Given the description of an element on the screen output the (x, y) to click on. 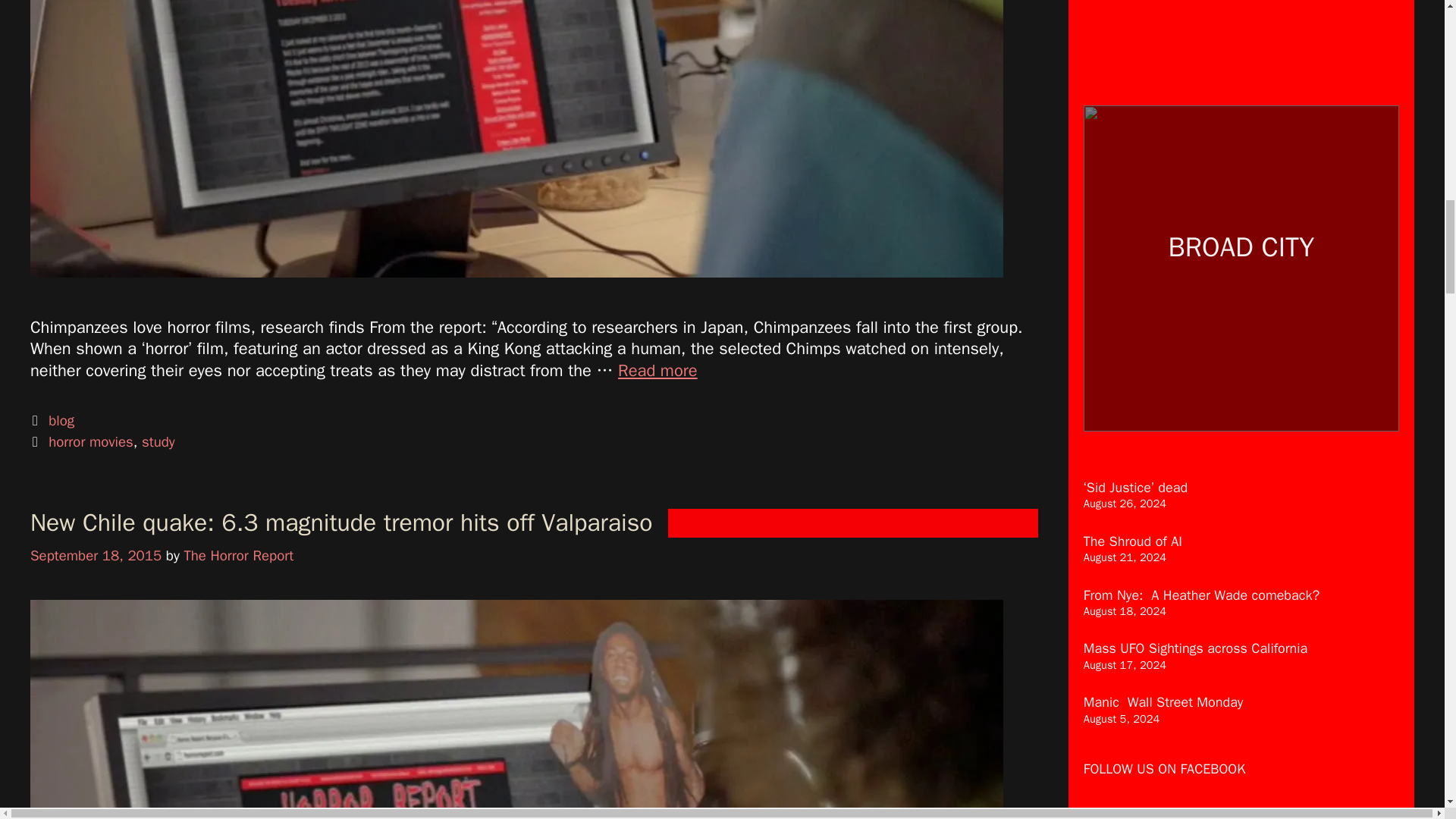
Chimpanzees love horror films, research finds (657, 370)
View all posts by The Horror Report (238, 556)
10:39 am (95, 556)
